Given the description of an element on the screen output the (x, y) to click on. 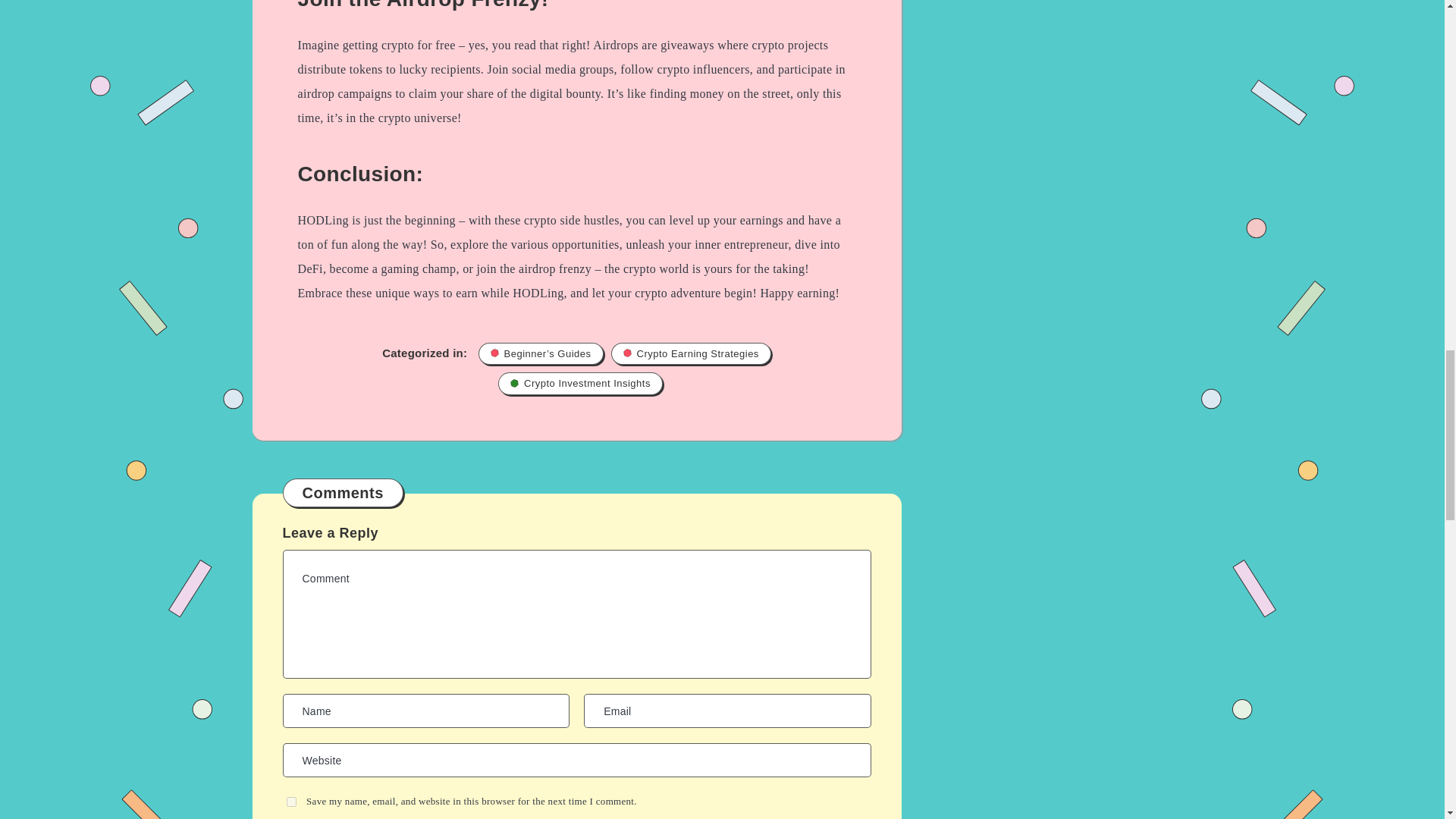
Crypto Investment Insights (579, 383)
Crypto Earning Strategies (691, 354)
yes (291, 801)
